Given the description of an element on the screen output the (x, y) to click on. 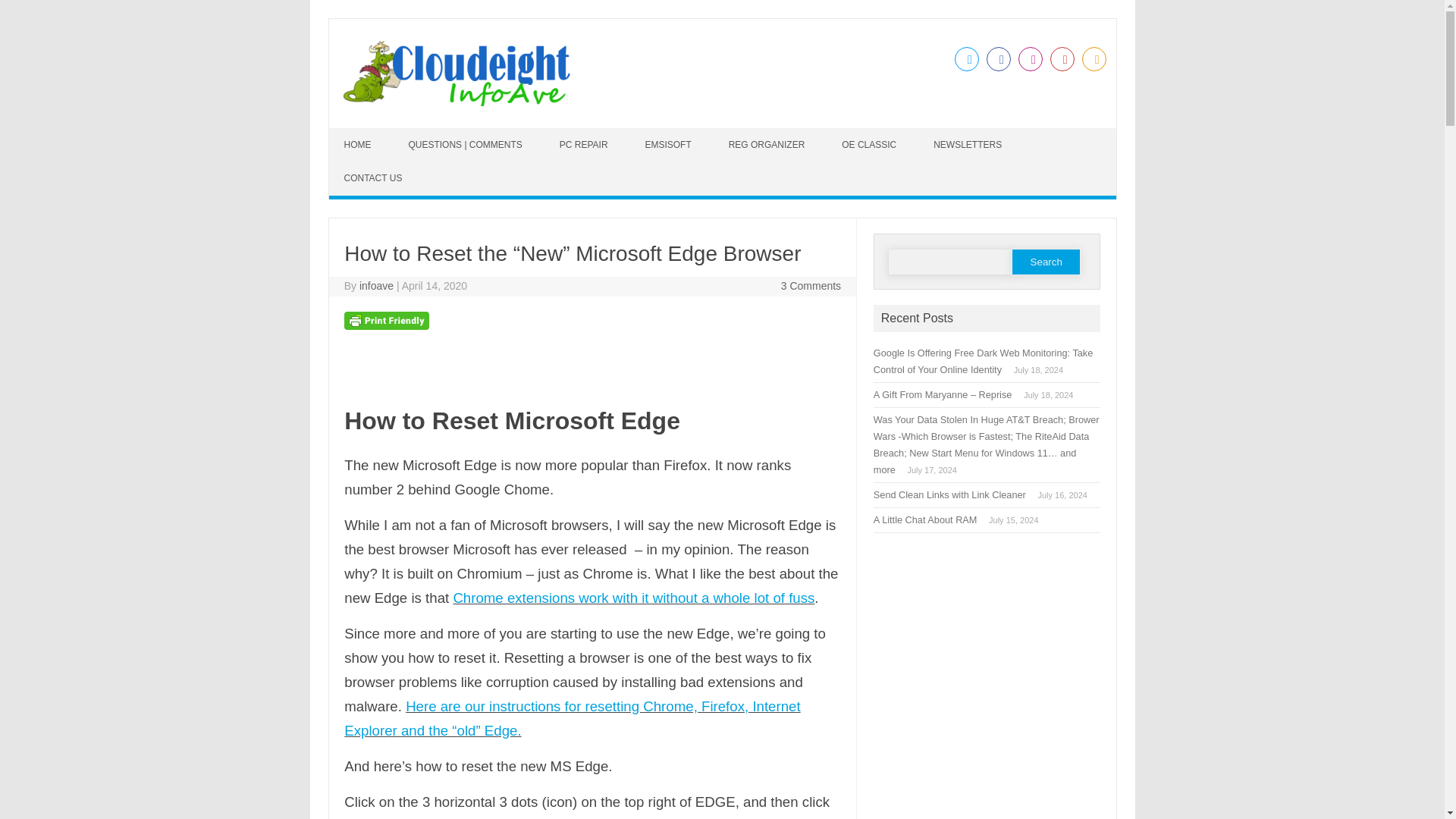
3 Comments (810, 285)
Skip to content (363, 132)
REG ORGANIZER (768, 144)
Skip to content (363, 132)
EMSISOFT (669, 144)
Chrome extensions work with it without a whole lot of fuss (632, 597)
CONTACT US (375, 177)
Search (1045, 261)
Search (1045, 261)
A Little Chat About RAM (924, 519)
Cloudeight InfoAve (455, 102)
NEWSLETTERS (969, 144)
Advertisement (986, 683)
PC REPAIR (585, 144)
